Given the description of an element on the screen output the (x, y) to click on. 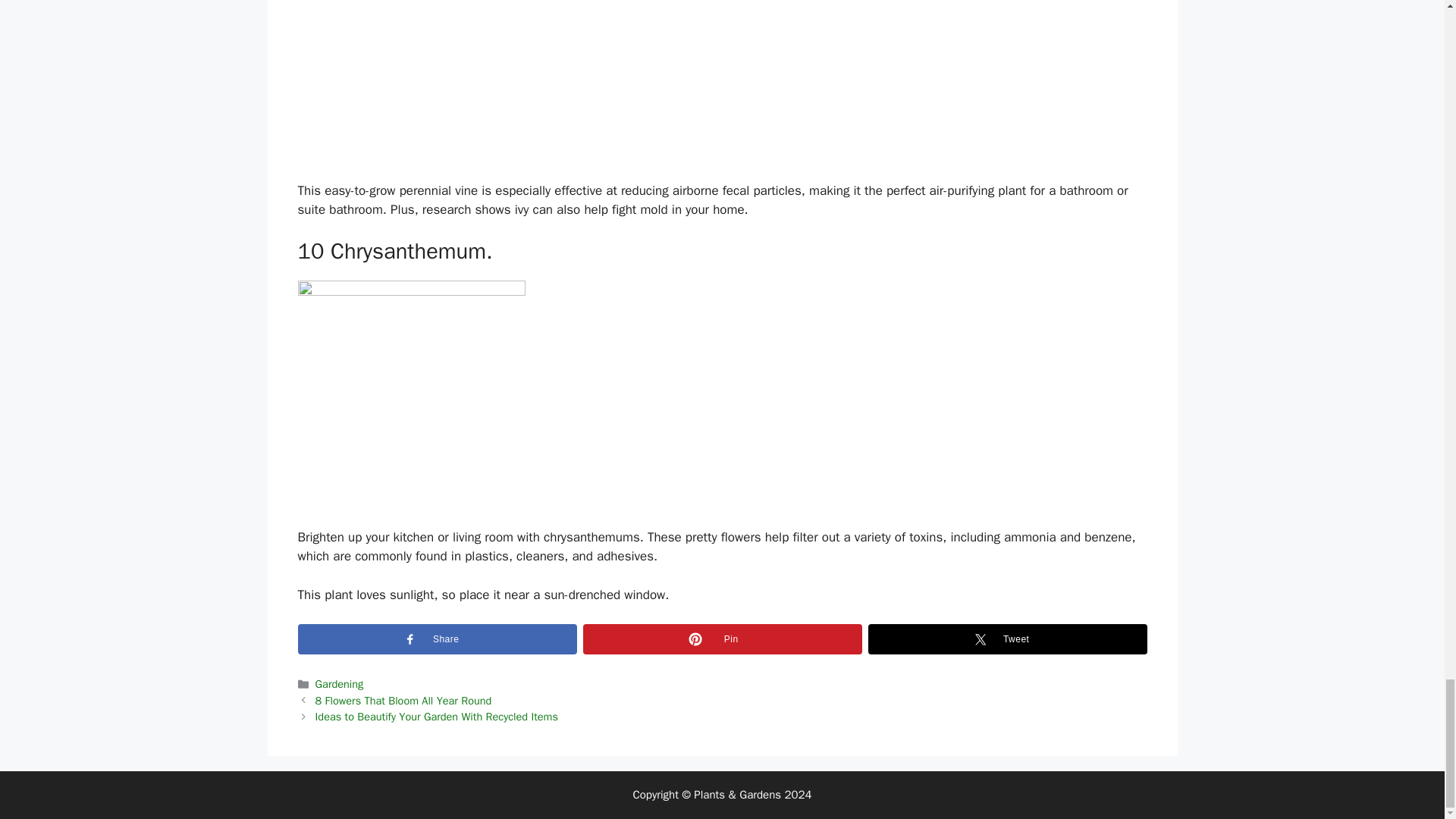
Ideas to Beautify Your Garden With Recycled Items (436, 716)
8 Flowers That Bloom All Year Round (403, 700)
Gardening (339, 684)
